Given the description of an element on the screen output the (x, y) to click on. 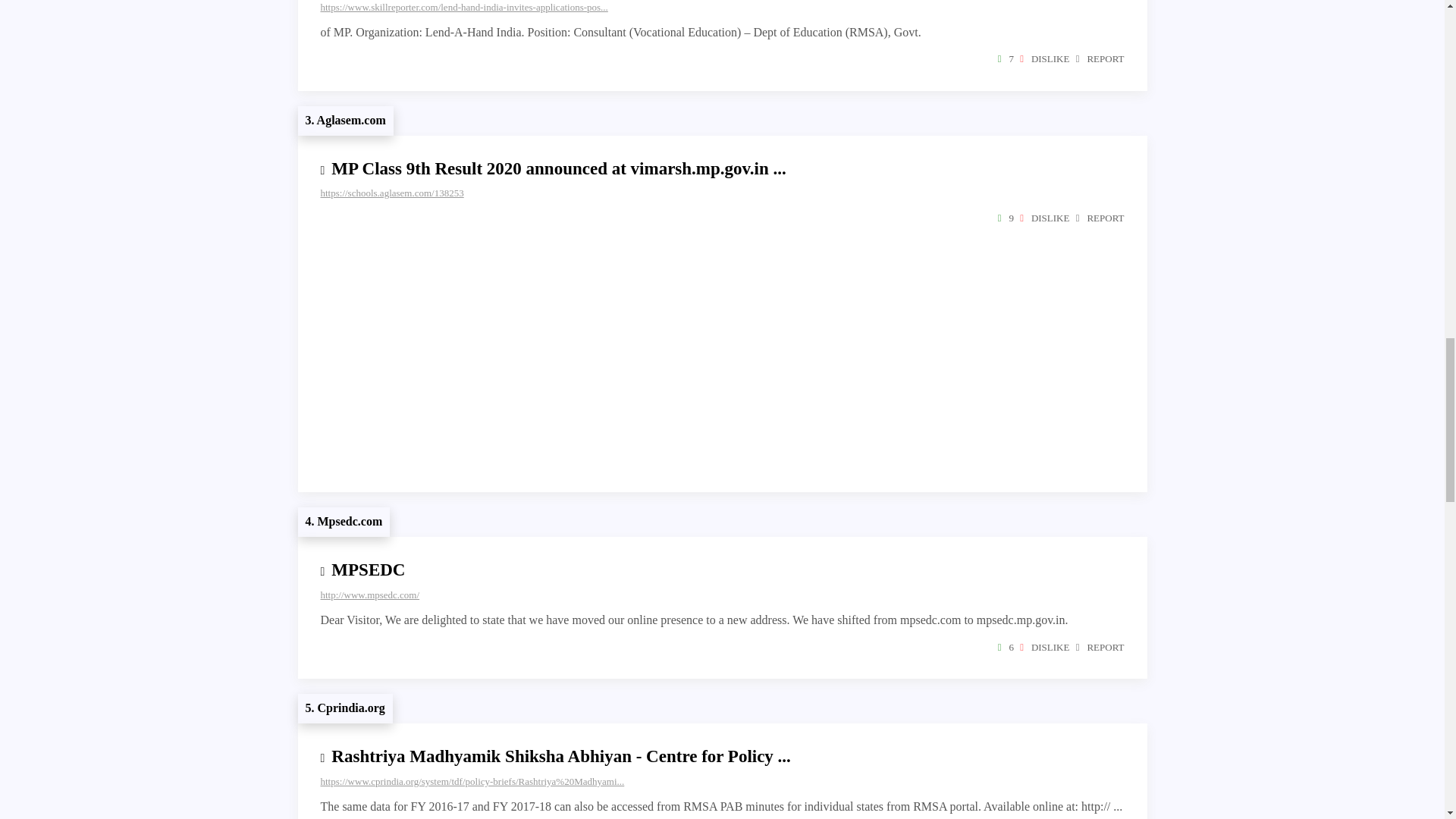
Rashtriya Madhyamik Shiksha Abhiyan - Centre for Policy ... (560, 755)
MP Class 9th Result 2020 announced at vimarsh.mp.gov.in ... (558, 168)
MPSEDC (367, 569)
